Given the description of an element on the screen output the (x, y) to click on. 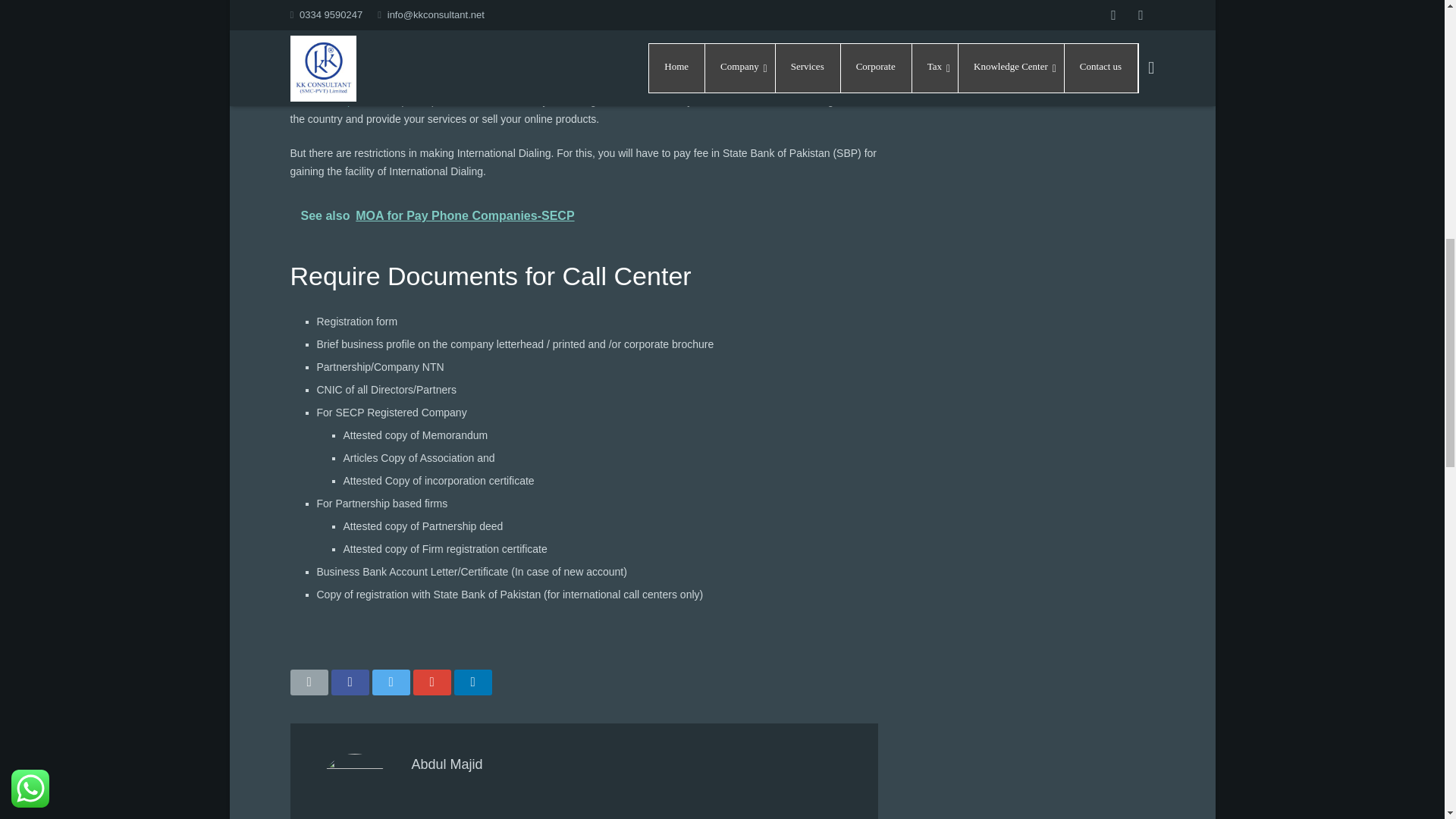
Back to top (1411, 21)
Email this (308, 682)
Tweet this (390, 682)
call center (444, 11)
Pakistan Software Export Board (573, 91)
Share this (349, 682)
Share this (430, 682)
Share this (472, 682)
